Given the description of an element on the screen output the (x, y) to click on. 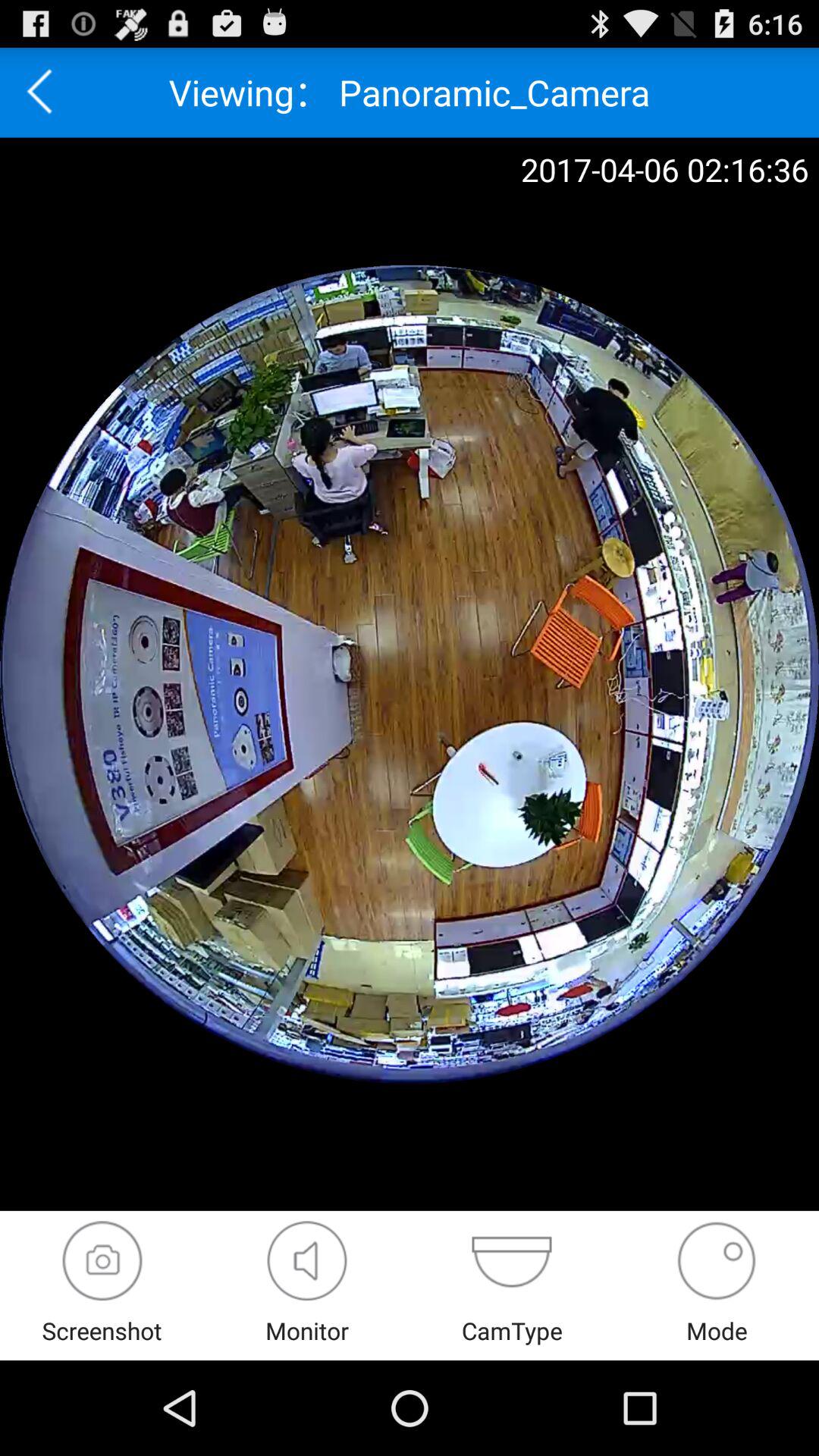
go to monitor (306, 1260)
